Given the description of an element on the screen output the (x, y) to click on. 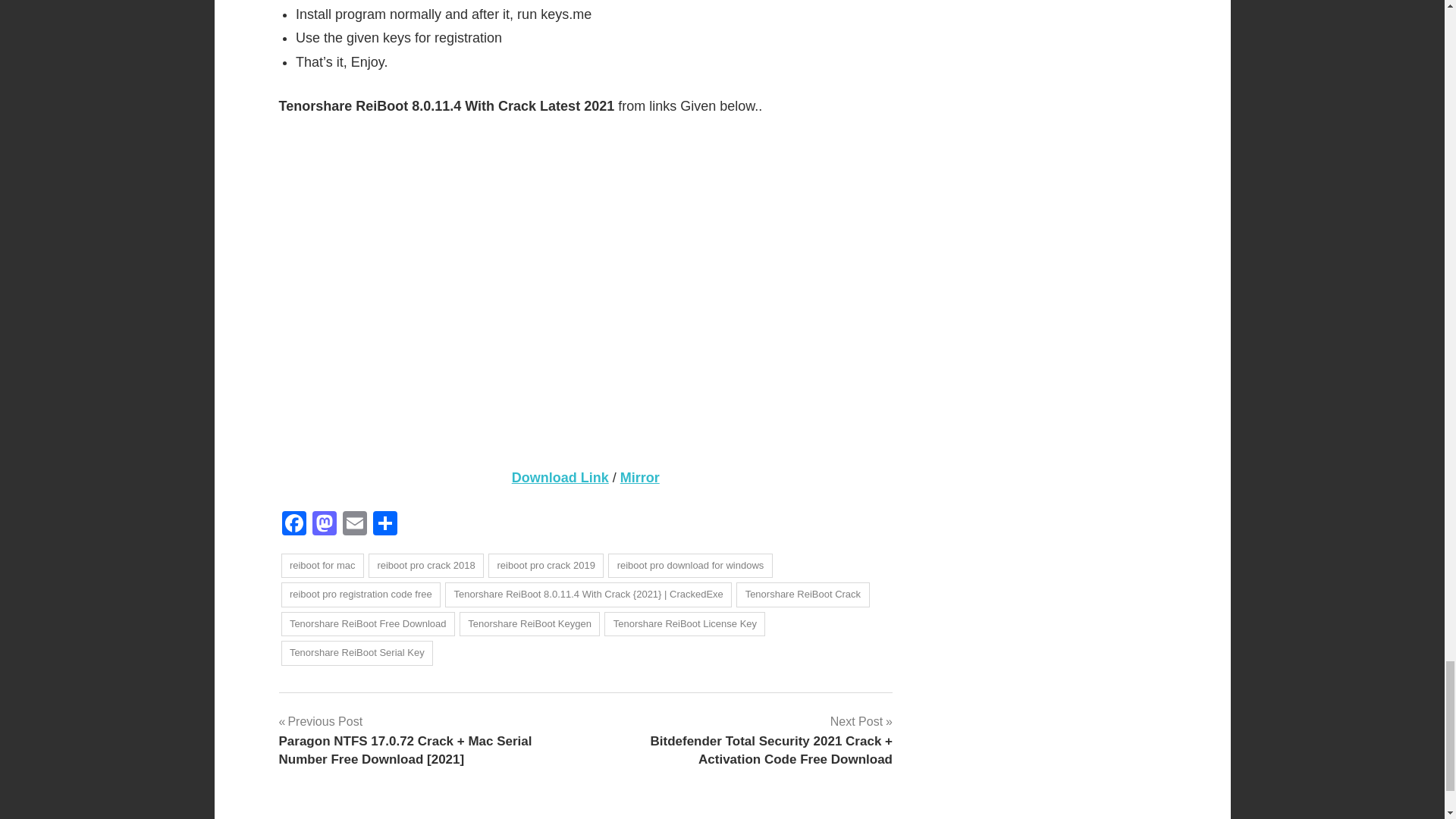
Tenorshare ReiBoot Crack (802, 594)
Download Link (560, 477)
reiboot pro registration code free (361, 594)
Email (354, 524)
reiboot pro download for windows (689, 565)
Email (354, 524)
Tenorshare ReiBoot Free Download (367, 624)
Facebook (293, 524)
Tenorshare ReiBoot Serial Key (356, 652)
reiboot pro crack 2018 (425, 565)
Tenorshare ReiBoot Keygen (529, 624)
Mirror (639, 477)
Mastodon (323, 524)
Tenorshare ReiBoot License Key (684, 624)
reiboot for mac (321, 565)
